Given the description of an element on the screen output the (x, y) to click on. 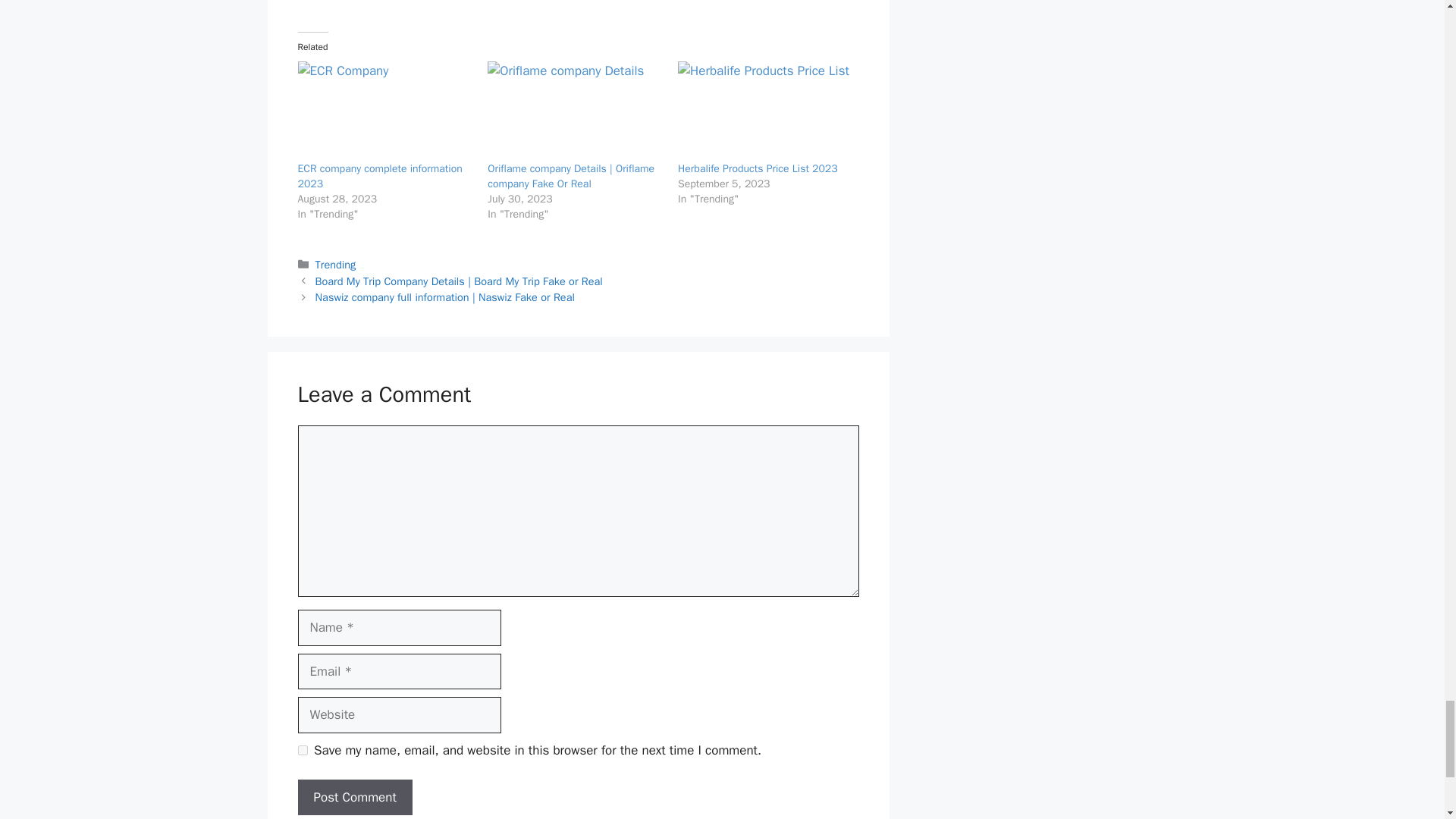
Post Comment (354, 797)
yes (302, 750)
